Given the description of an element on the screen output the (x, y) to click on. 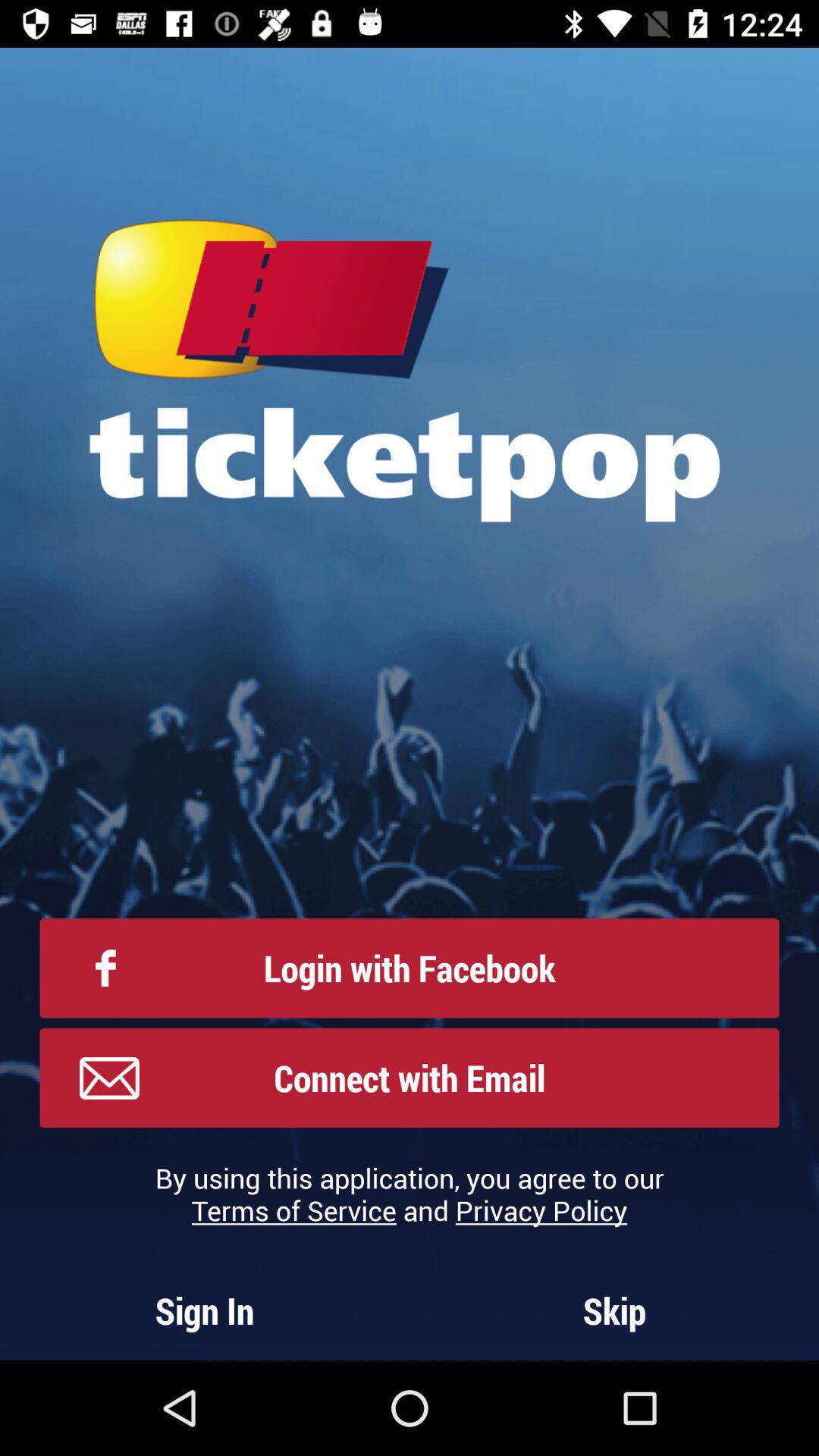
click the by using this (409, 1194)
